Given the description of an element on the screen output the (x, y) to click on. 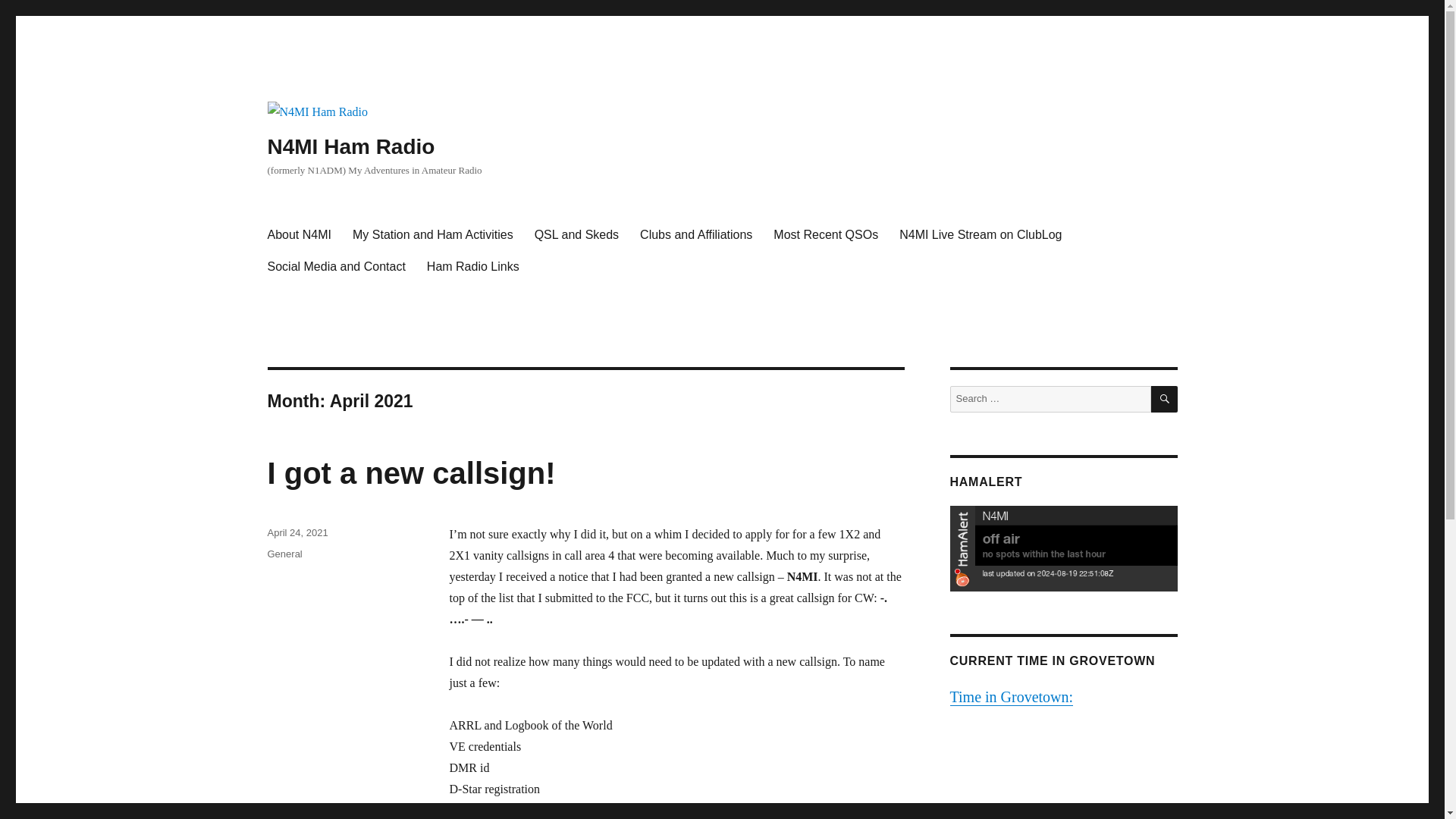
Social Media and Contact (335, 265)
April 24, 2021 (296, 532)
About N4MI (298, 234)
Ham Radio Links (472, 265)
I got a new callsign! (410, 472)
SEARCH (1164, 398)
QSL and Skeds (576, 234)
N4MI Ham Radio (349, 146)
Clubs and Affiliations (695, 234)
Most Recent QSOs (825, 234)
